Given the description of an element on the screen output the (x, y) to click on. 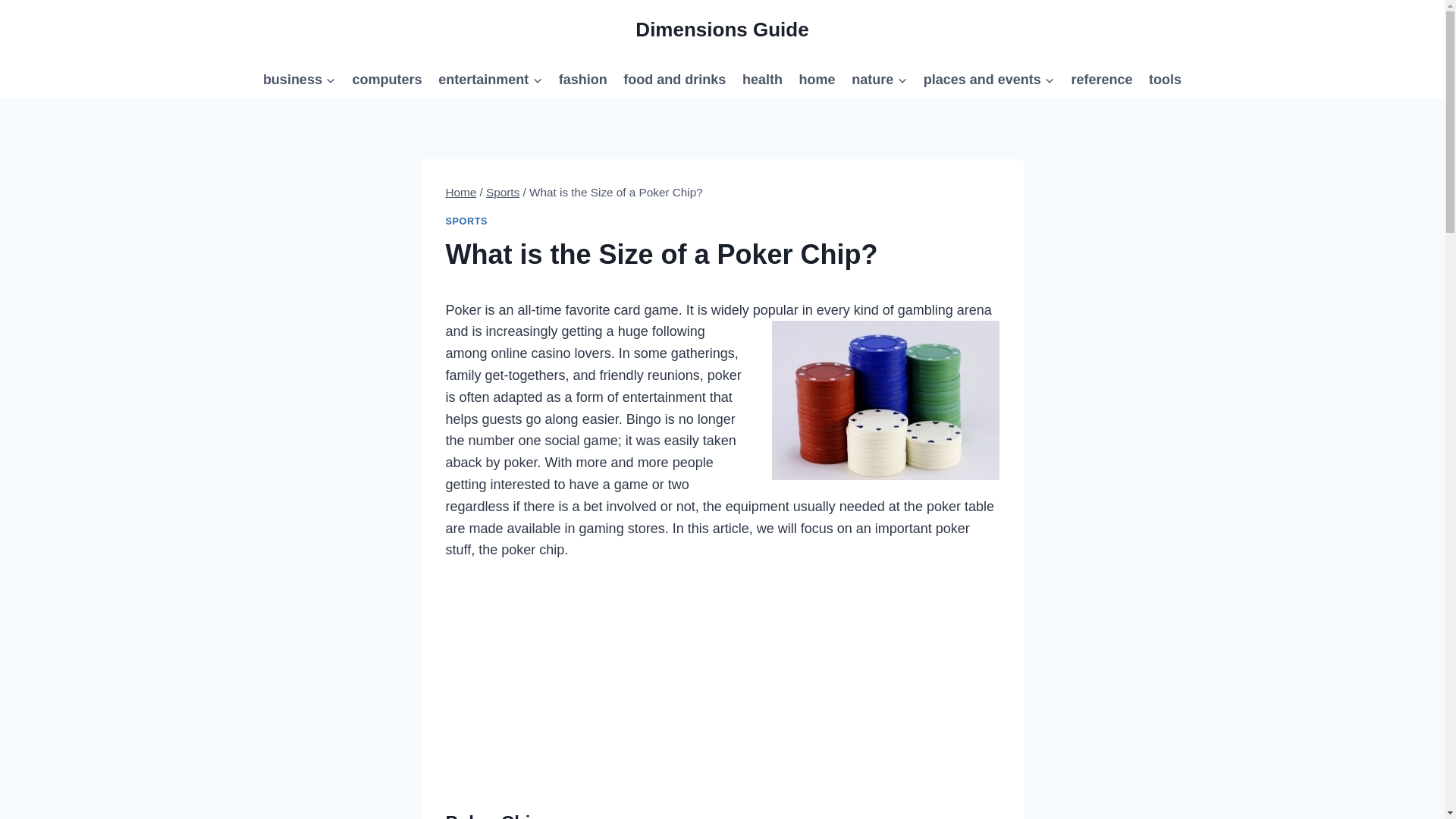
fashion (582, 79)
Dimensions Guide (721, 29)
Home (461, 192)
business (298, 79)
nature (879, 79)
computers (386, 79)
places and events (988, 79)
SPORTS (466, 221)
health (761, 79)
reference (1101, 79)
Sports (502, 192)
food and drinks (675, 79)
tools (1164, 79)
home (817, 79)
entertainment (489, 79)
